Given the description of an element on the screen output the (x, y) to click on. 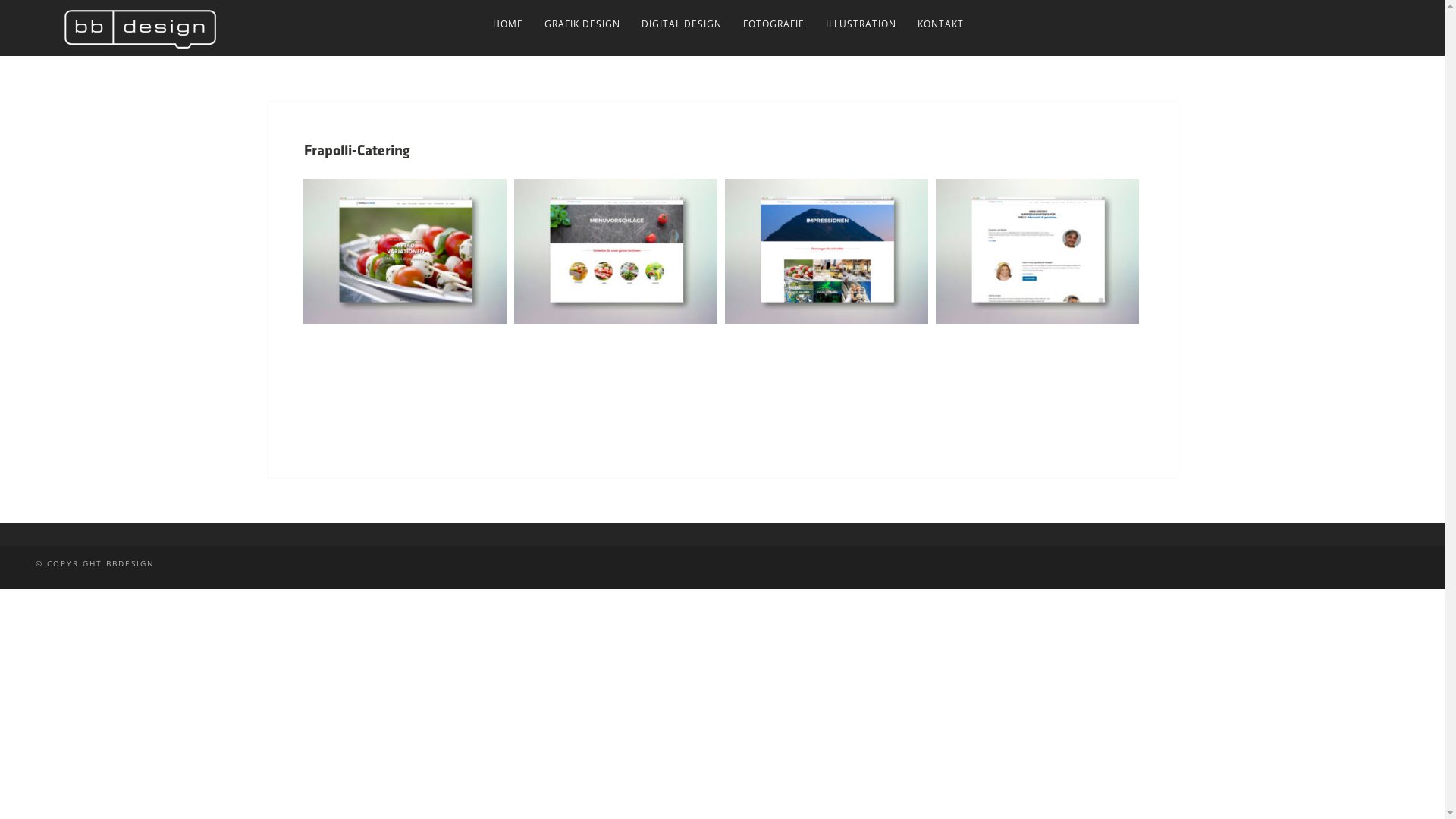
ILLUSTRATION Element type: text (860, 24)
DIGITAL DESIGN Element type: text (681, 24)
FOTOGRAFIE Element type: text (773, 24)
GRAFIK DESIGN Element type: text (581, 24)
KONTAKT Element type: text (940, 24)
HOME Element type: text (507, 24)
